Given the description of an element on the screen output the (x, y) to click on. 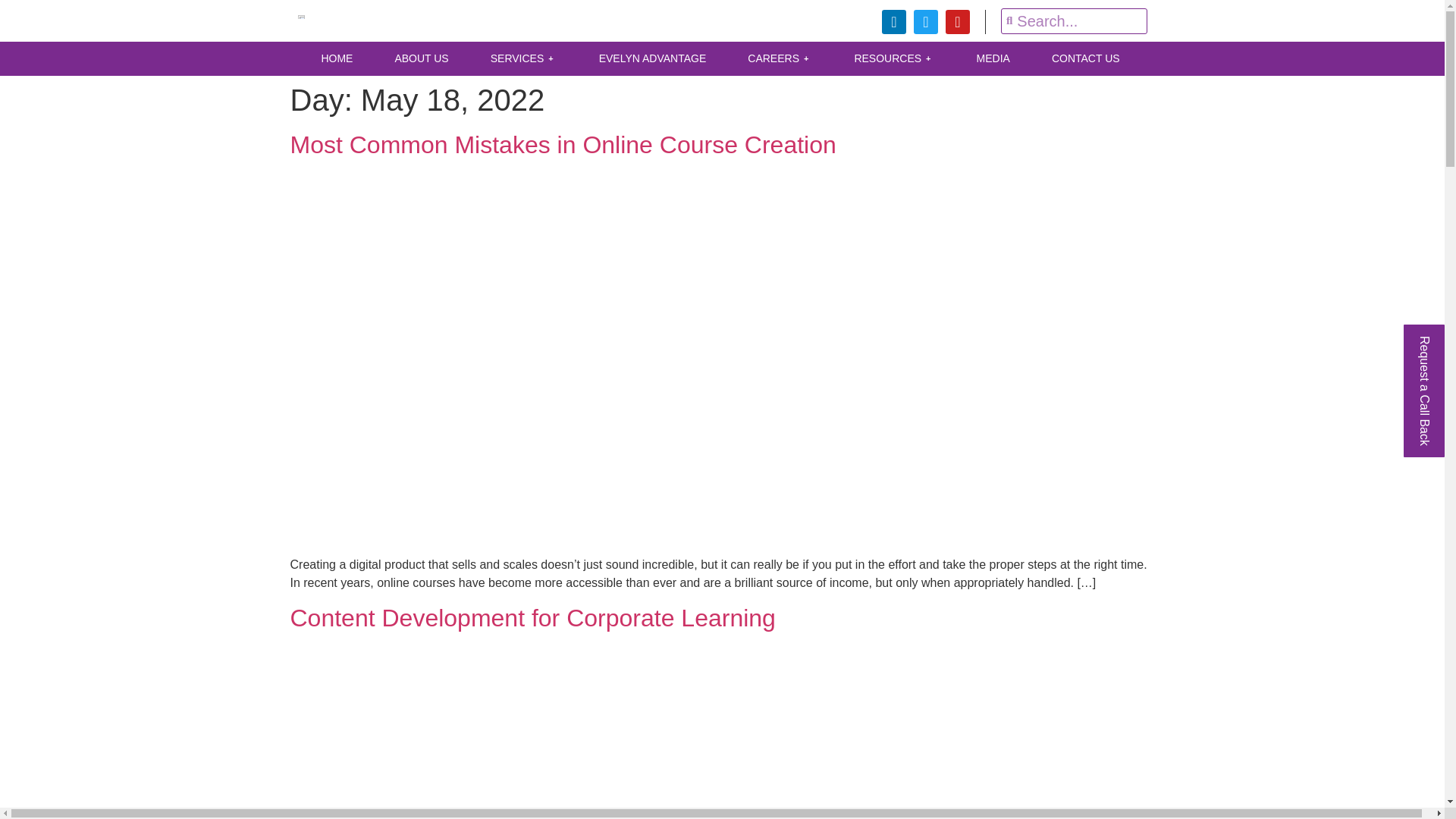
ABOUT US (422, 58)
SERVICES (525, 58)
HOME (338, 58)
